Given the description of an element on the screen output the (x, y) to click on. 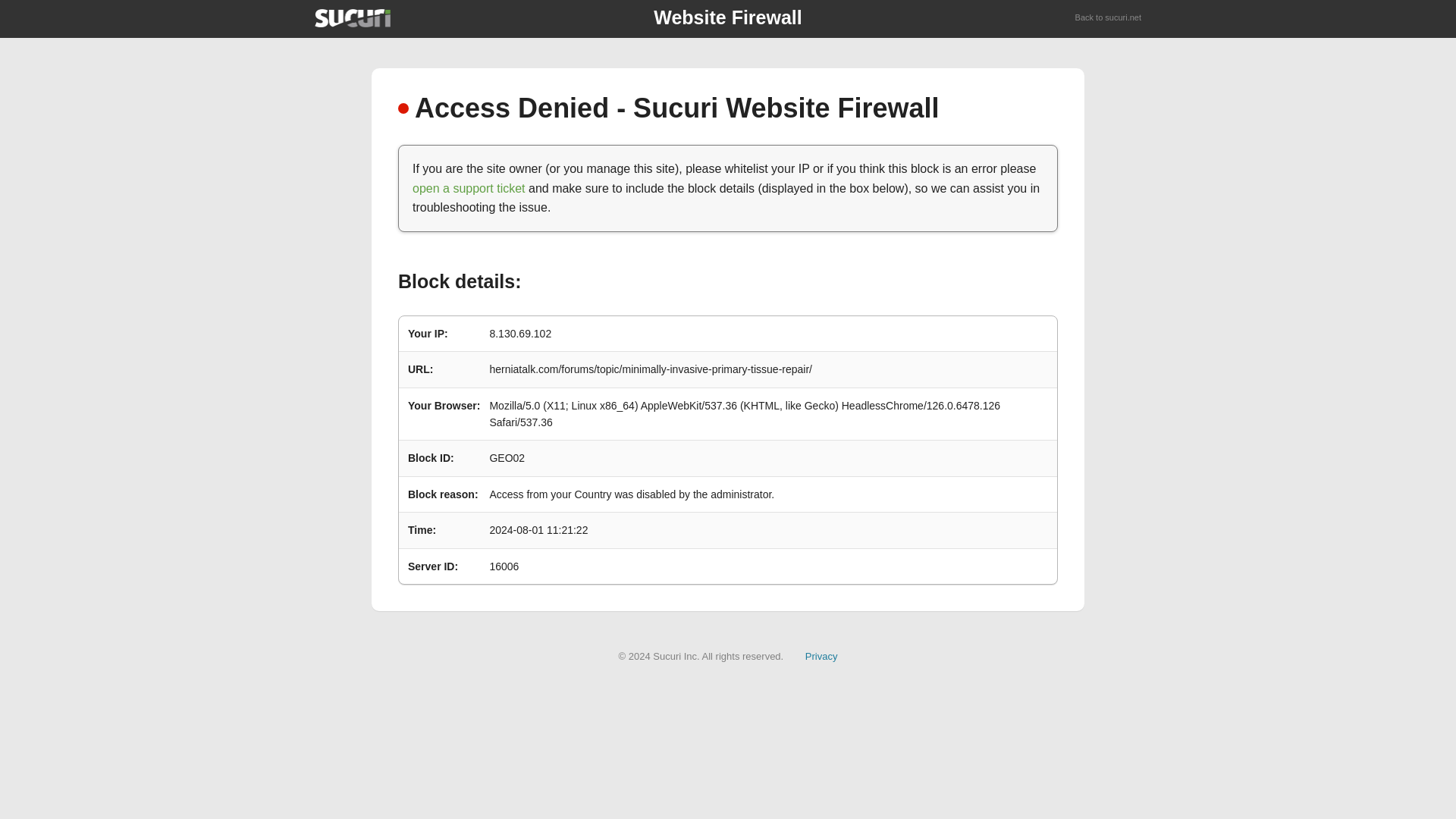
Privacy (821, 655)
open a support ticket (468, 187)
Back to sucuri.net (1108, 18)
